Given the description of an element on the screen output the (x, y) to click on. 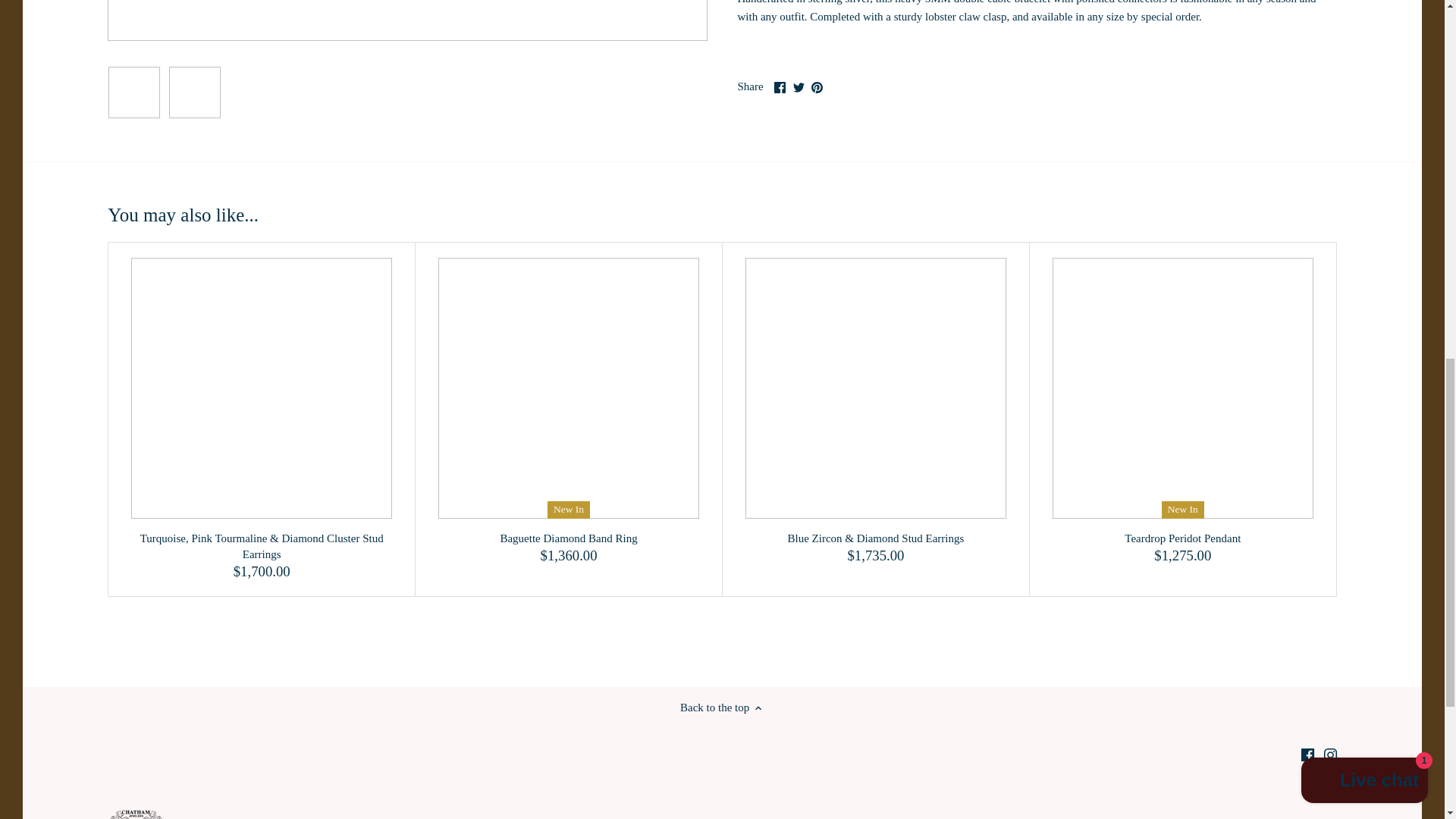
Pinterest (816, 87)
Facebook (1307, 754)
Instagram (1329, 754)
Facebook (780, 87)
Twitter (799, 87)
